Given the description of an element on the screen output the (x, y) to click on. 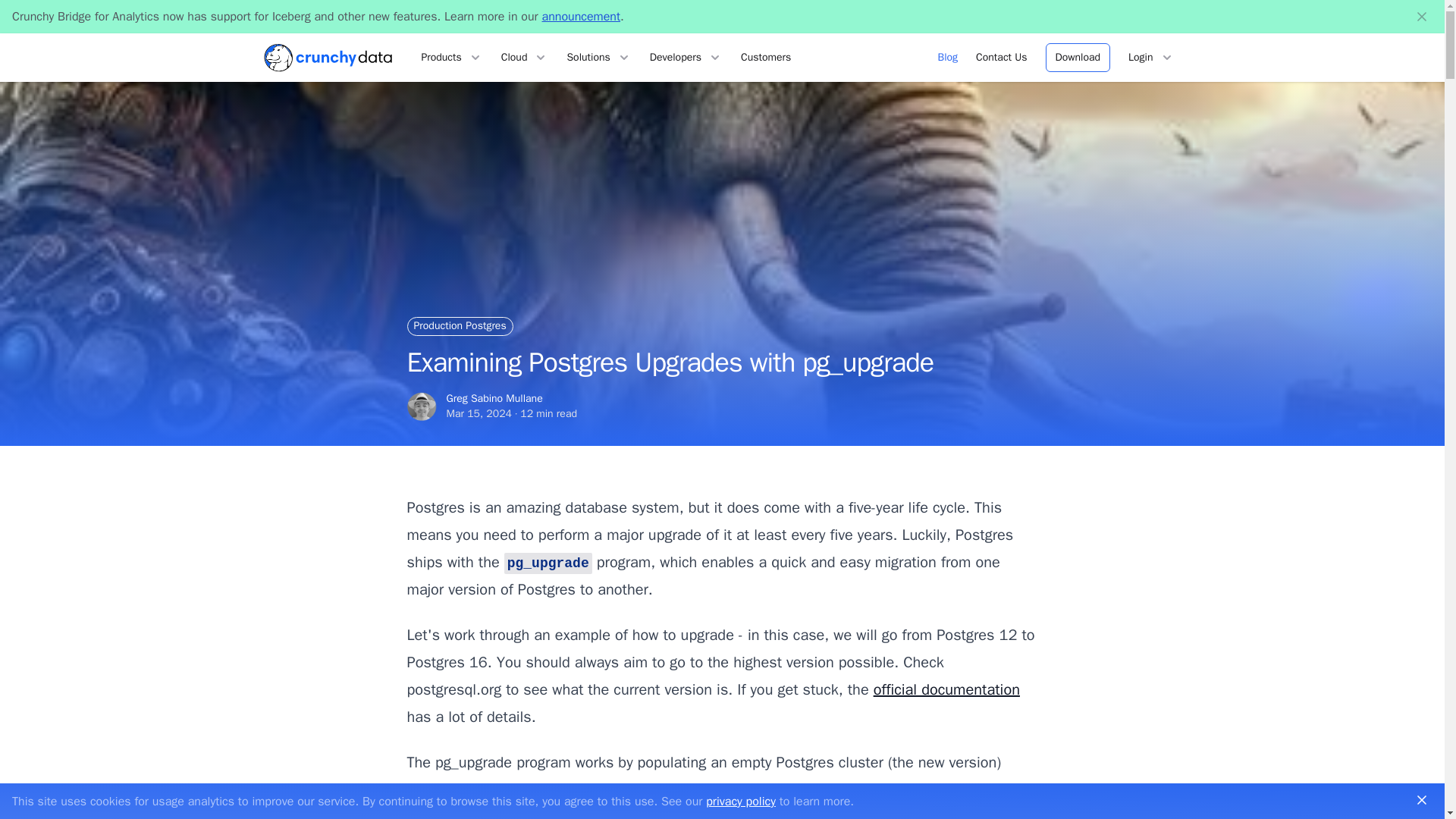
Greg Sabino Mullane (493, 398)
Cloud (524, 57)
Developers (686, 57)
Customers (765, 57)
Solutions (598, 57)
Login (1150, 57)
official documentation (946, 689)
Products (452, 57)
Blog (948, 57)
Contact Us (1000, 57)
Download (1077, 57)
Greg Sabino Mullane (421, 406)
Production Postgres (459, 325)
